Given the description of an element on the screen output the (x, y) to click on. 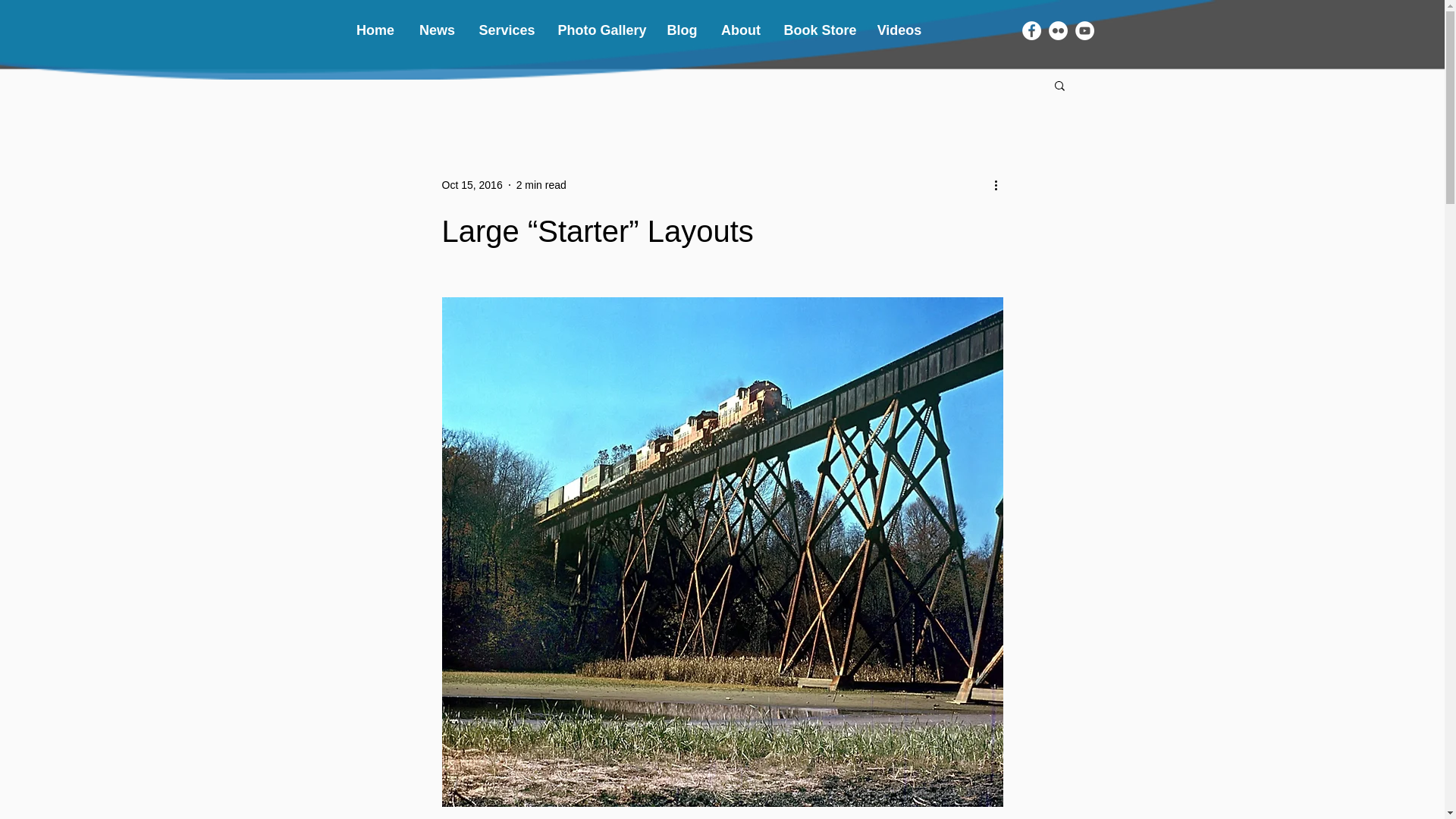
About (741, 30)
Photo Gallery (599, 30)
Oct 15, 2016 (471, 184)
News (436, 30)
Videos (899, 30)
Book Store (817, 30)
Blog (682, 30)
Home (375, 30)
2 min read (541, 184)
